Given the description of an element on the screen output the (x, y) to click on. 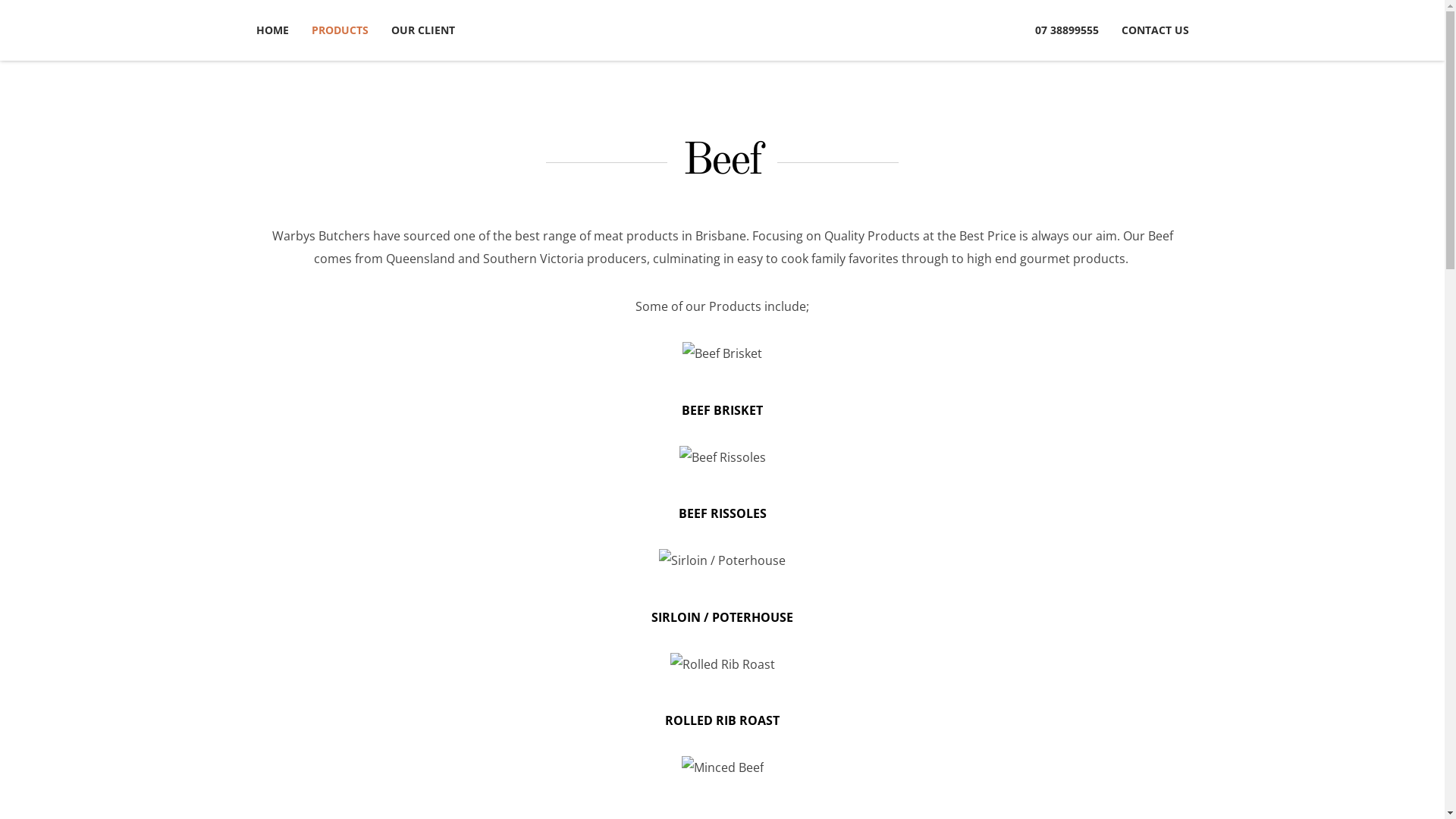
07 38899555 Element type: text (1071, 30)
Beef Element type: text (722, 161)
OUR CLIENT Element type: text (416, 30)
CONTACT US Element type: text (1149, 30)
PRODUCTS Element type: text (339, 30)
HOME Element type: text (278, 30)
